Given the description of an element on the screen output the (x, y) to click on. 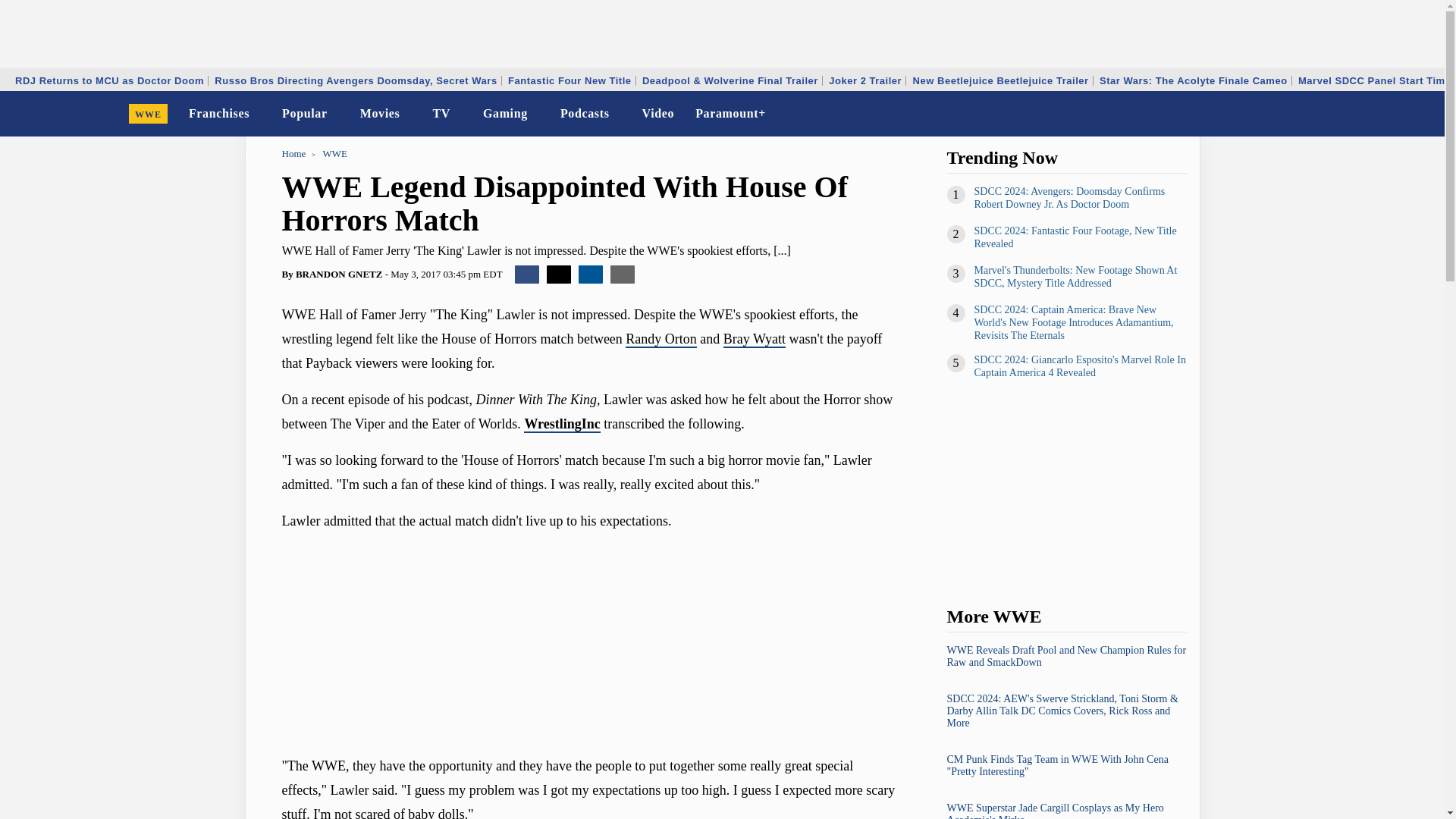
Arrow (409, 113)
Arrow (259, 113)
Arrow (537, 114)
RDJ Returns to MCU as Doctor Doom (109, 80)
Dark Mode (1394, 113)
Arrow (460, 113)
Arrow (337, 113)
Arrow (259, 114)
New Beetlejuice Beetlejuice Trailer (1000, 80)
Arrow (460, 114)
Arrow (409, 114)
Arrow (337, 114)
Star Wars: The Acolyte Finale Cameo (1193, 80)
Arrow (619, 114)
Search (1422, 114)
